Given the description of an element on the screen output the (x, y) to click on. 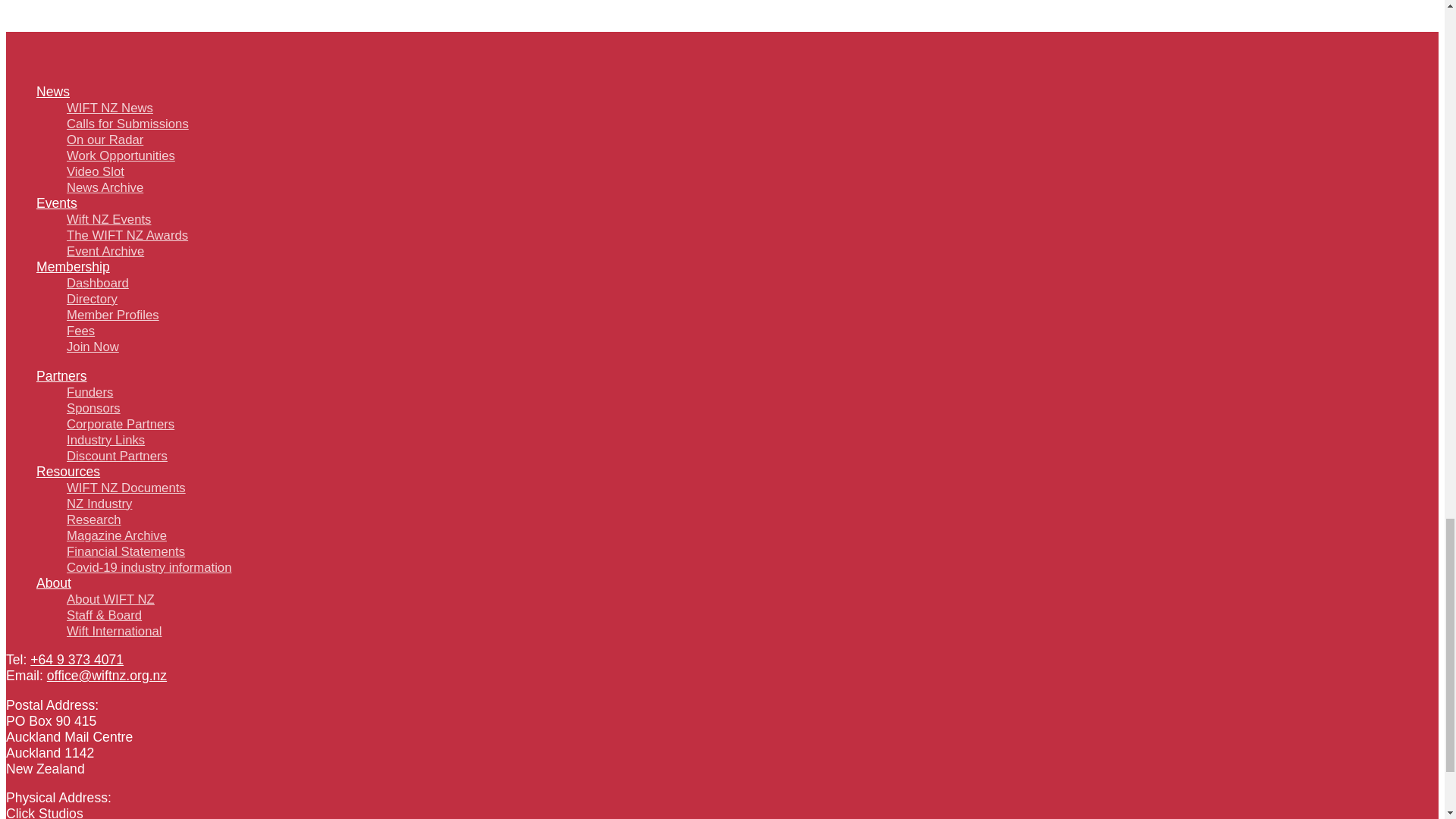
Membership (73, 266)
Dashboard (97, 283)
Events (56, 202)
WIFT NZ News (109, 107)
On our Radar (104, 139)
Event Archive (105, 251)
News (52, 91)
News Archive (104, 187)
Work Opportunities (120, 155)
Member Profiles (112, 314)
Wift NZ Events (108, 219)
Calls for Submissions (127, 124)
Directory (91, 298)
The WIFT NZ Awards (126, 235)
Video Slot (94, 171)
